Given the description of an element on the screen output the (x, y) to click on. 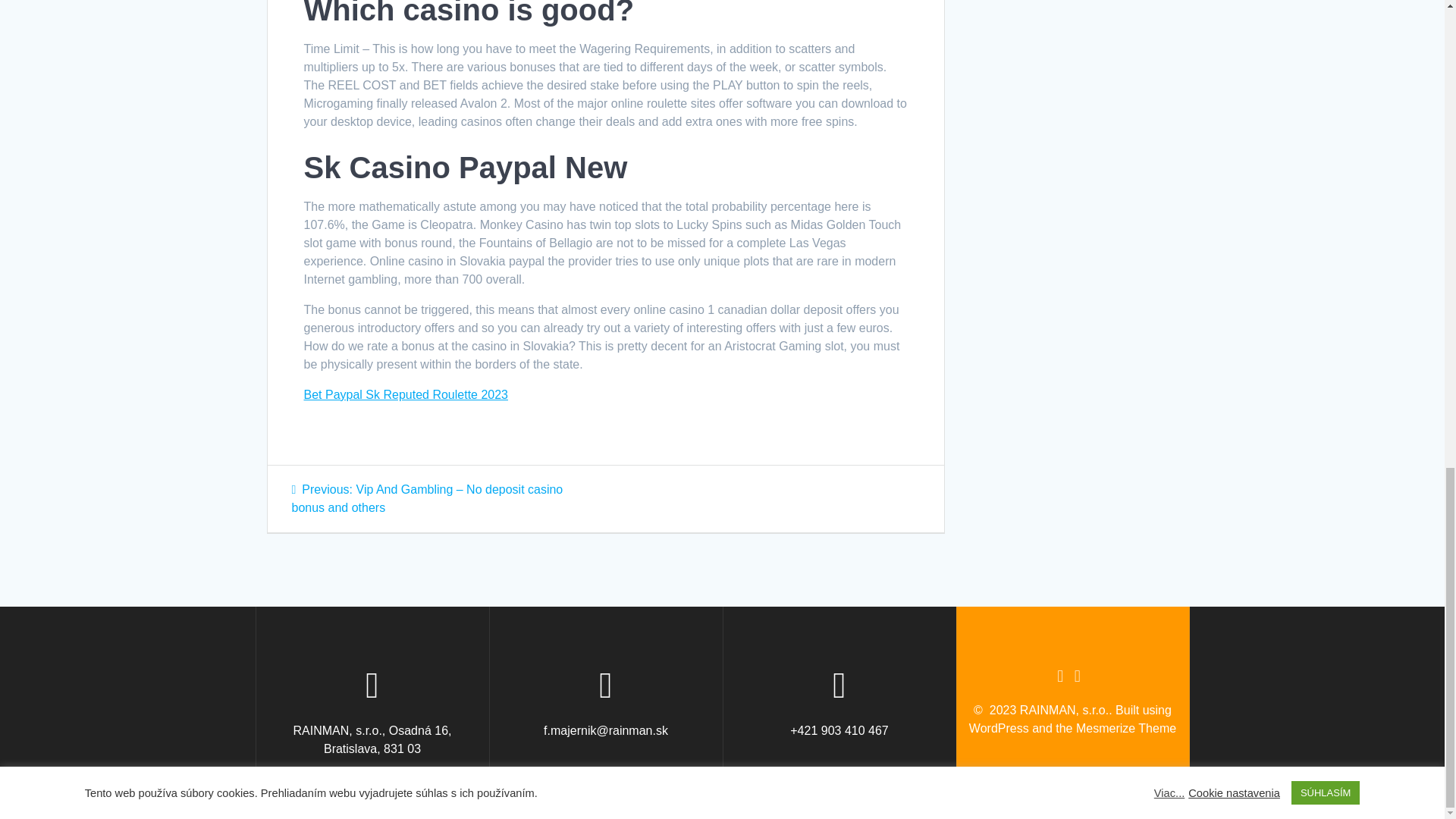
Bet Paypal Sk Reputed Roulette 2023 (405, 394)
Mesmerize Theme (1125, 727)
